Given the description of an element on the screen output the (x, y) to click on. 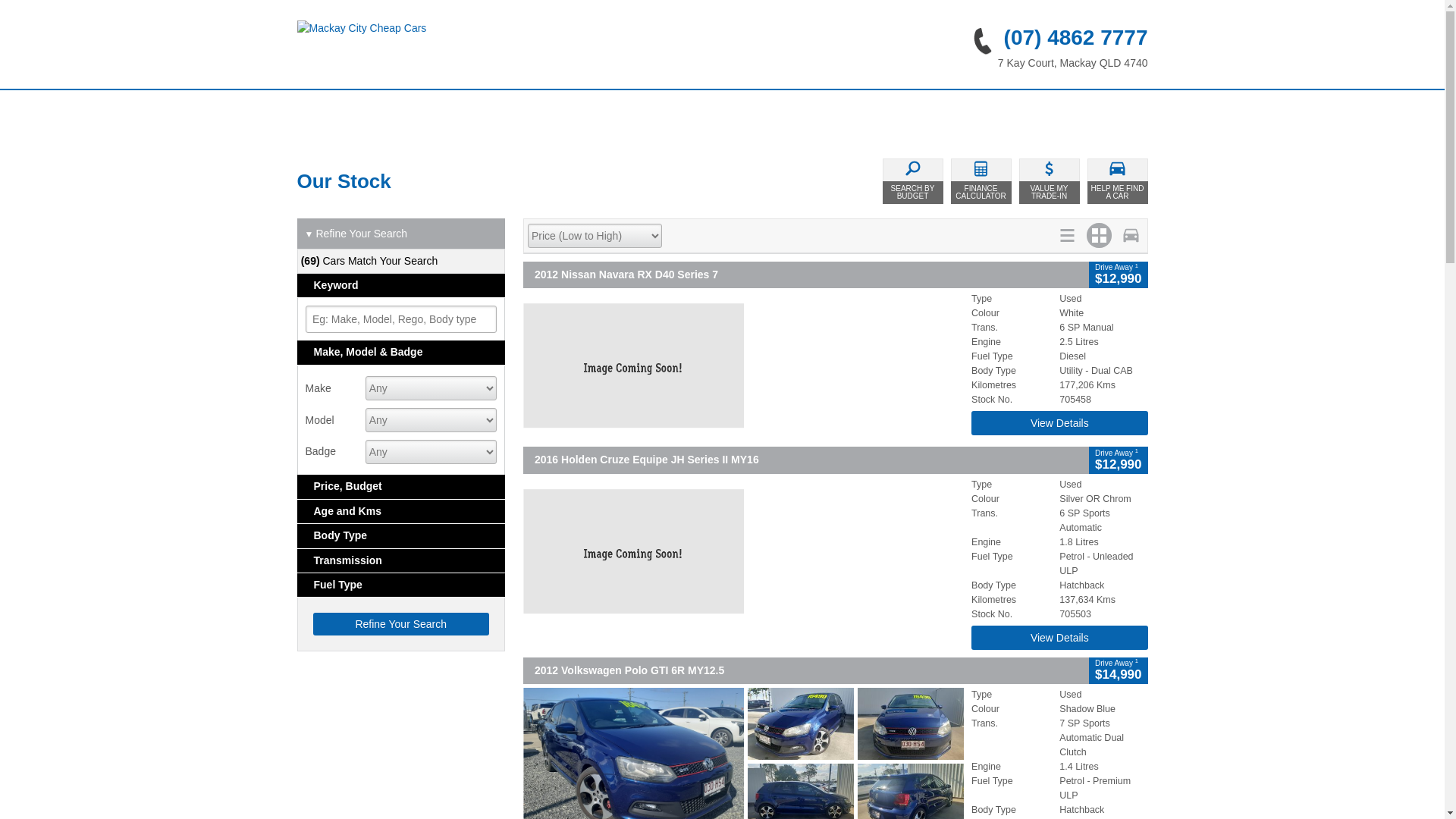
VALUE MY TRADE-IN Element type: text (1049, 180)
Price, Budget Element type: text (401, 486)
HELP ME FIND A CAR Element type: text (1117, 180)
Age and Kms Element type: text (401, 511)
Fuel Type Element type: text (401, 584)
2016 Holden Cruze Equipe JH Series II MY16 Element type: text (805, 459)
Make, Model & Badge Element type: text (401, 352)
Drive Away 1
$12,990 Element type: text (1117, 274)
SEARCH BY BUDGET Element type: text (912, 180)
2012 Nissan Navara Element type: hover (743, 365)
Drive Away 1
$12,990 Element type: text (1117, 459)
View Details Element type: text (1059, 637)
2016 Holden Cruze Element type: hover (743, 550)
(07) 4862 7777 Element type: text (1054, 37)
Keyword Element type: text (401, 285)
2012 Nissan Navara RX D40 Series 7 Element type: text (805, 274)
View Details Element type: text (1059, 423)
FINANCE CALCULATOR Element type: text (980, 180)
Transmission Element type: text (401, 560)
2012 Volkswagen Polo GTI 6R MY12.5 Element type: text (805, 670)
Refine Your Search Element type: text (400, 623)
Body Type Element type: text (401, 535)
Drive Away 1
$14,990 Element type: text (1117, 670)
